Given the description of an element on the screen output the (x, y) to click on. 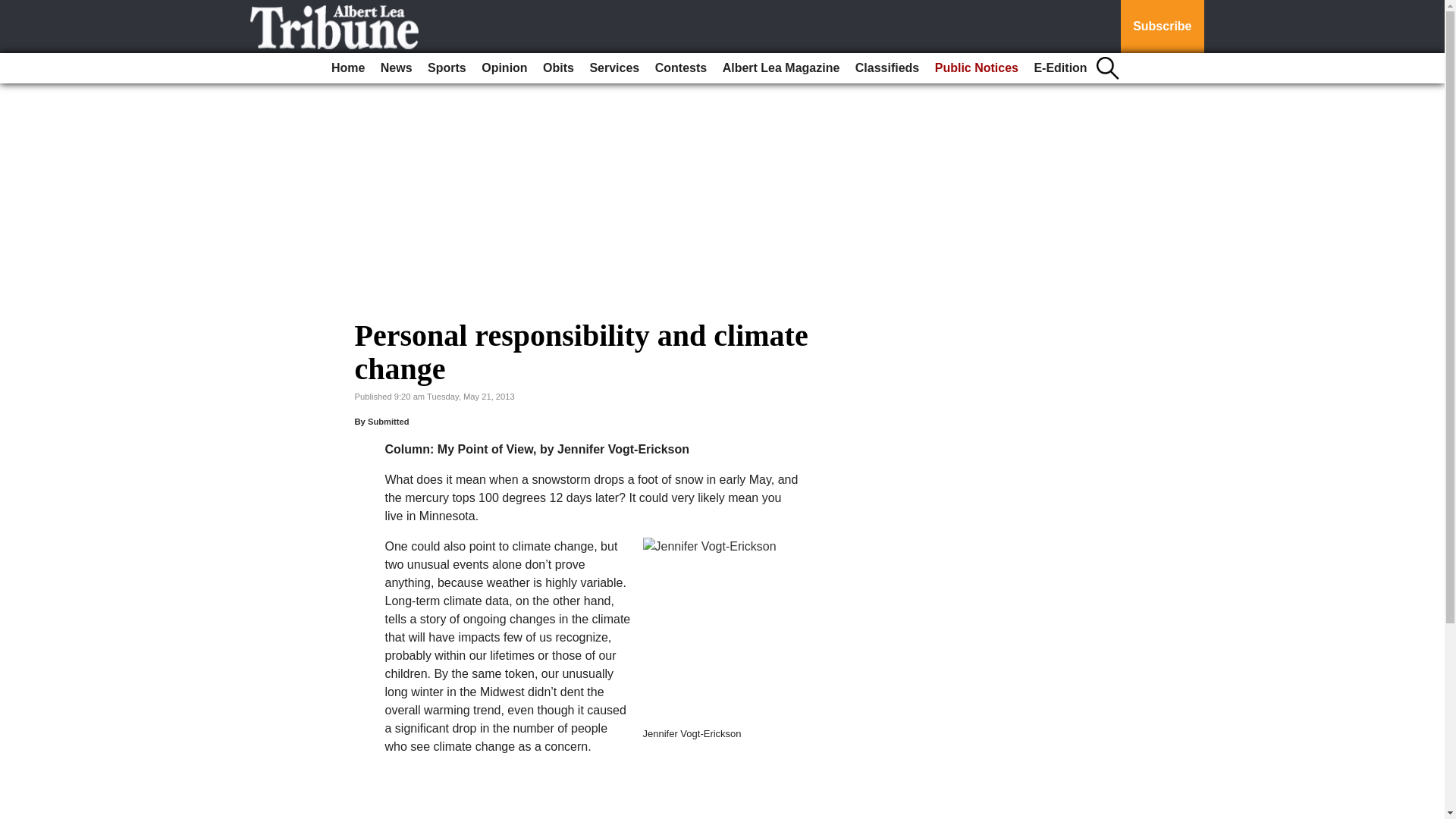
Obits (558, 68)
Sports (446, 68)
Opinion (504, 68)
Services (614, 68)
News (396, 68)
Subscribe (1162, 26)
Home (347, 68)
